Given the description of an element on the screen output the (x, y) to click on. 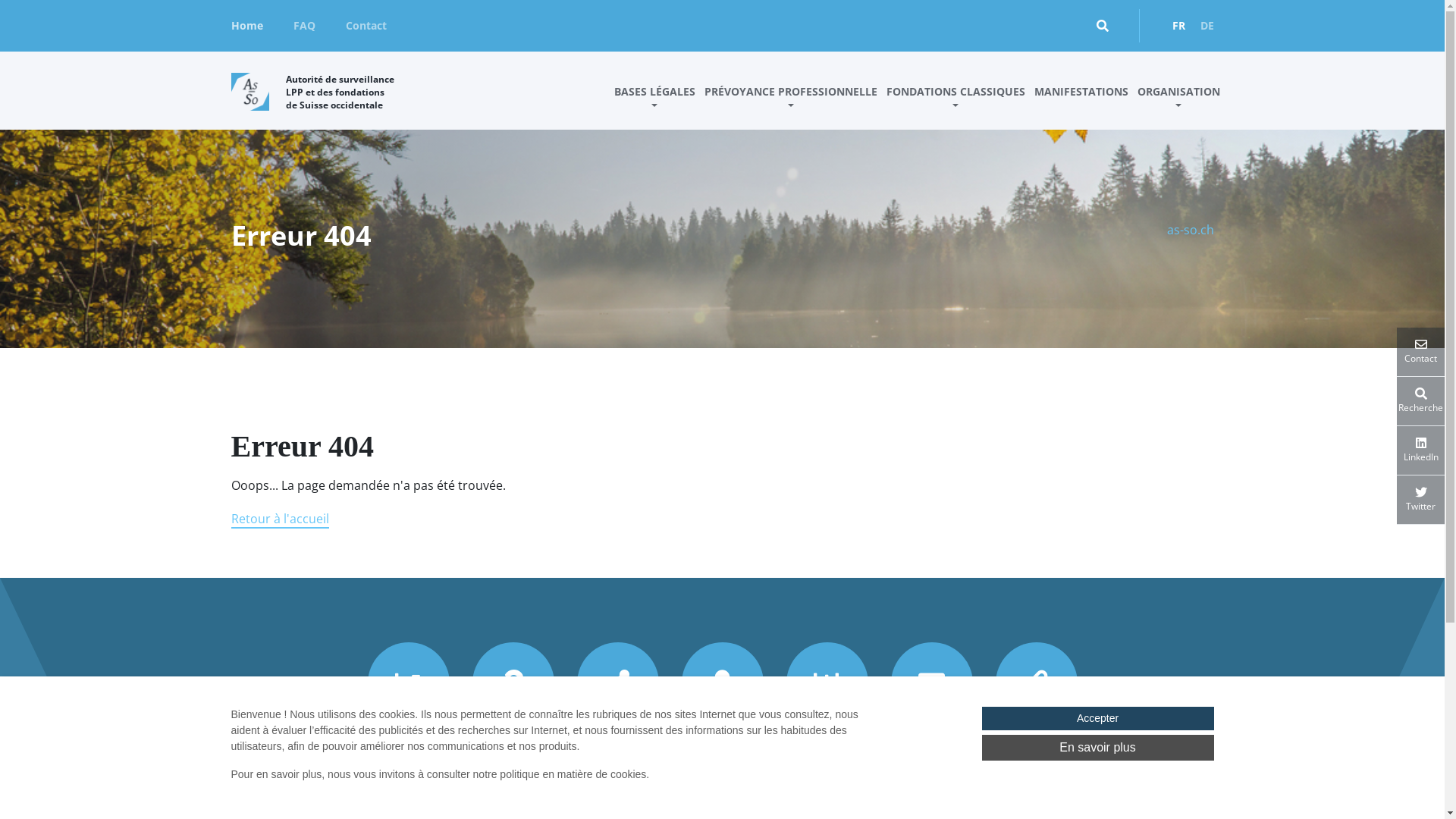
MANIFESTATIONS Element type: text (1081, 105)
Chiffres Element type: text (407, 749)
Contact Element type: text (1420, 351)
FONDATIONS CLASSIQUES Element type: text (954, 105)
Twitter Element type: text (1420, 499)
FAQ Element type: text (512, 749)
Accepter Element type: text (1097, 718)
Emoluments Element type: text (826, 749)
En savoir plus Element type: text (1097, 747)
FAQ Element type: text (303, 25)
ORGANISATION Element type: text (1178, 105)
Team Element type: text (721, 749)
LinkedIn Element type: text (1420, 450)
FR Element type: text (1178, 25)
Home
(current) Element type: text (246, 25)
Contact Element type: text (365, 25)
as-so.ch Element type: text (1189, 229)
Contact Element type: text (931, 749)
Liens utiles Element type: text (1035, 749)
